Given the description of an element on the screen output the (x, y) to click on. 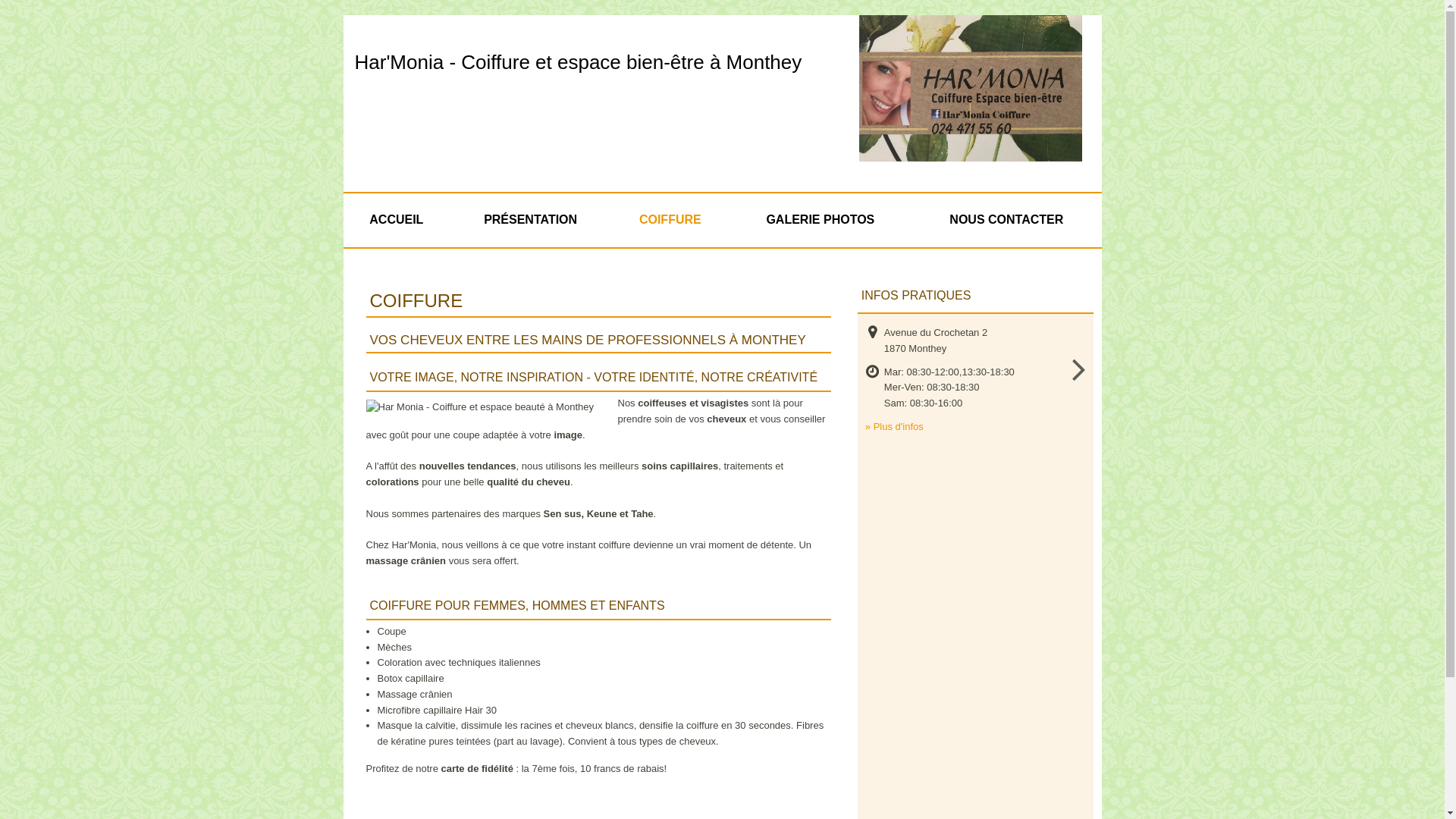
GALERIE PHOTOS Element type: text (820, 219)
COIFFURE Element type: text (670, 219)
ACCUEIL Element type: text (395, 219)
NOUS CONTACTER Element type: text (1006, 219)
